Given the description of an element on the screen output the (x, y) to click on. 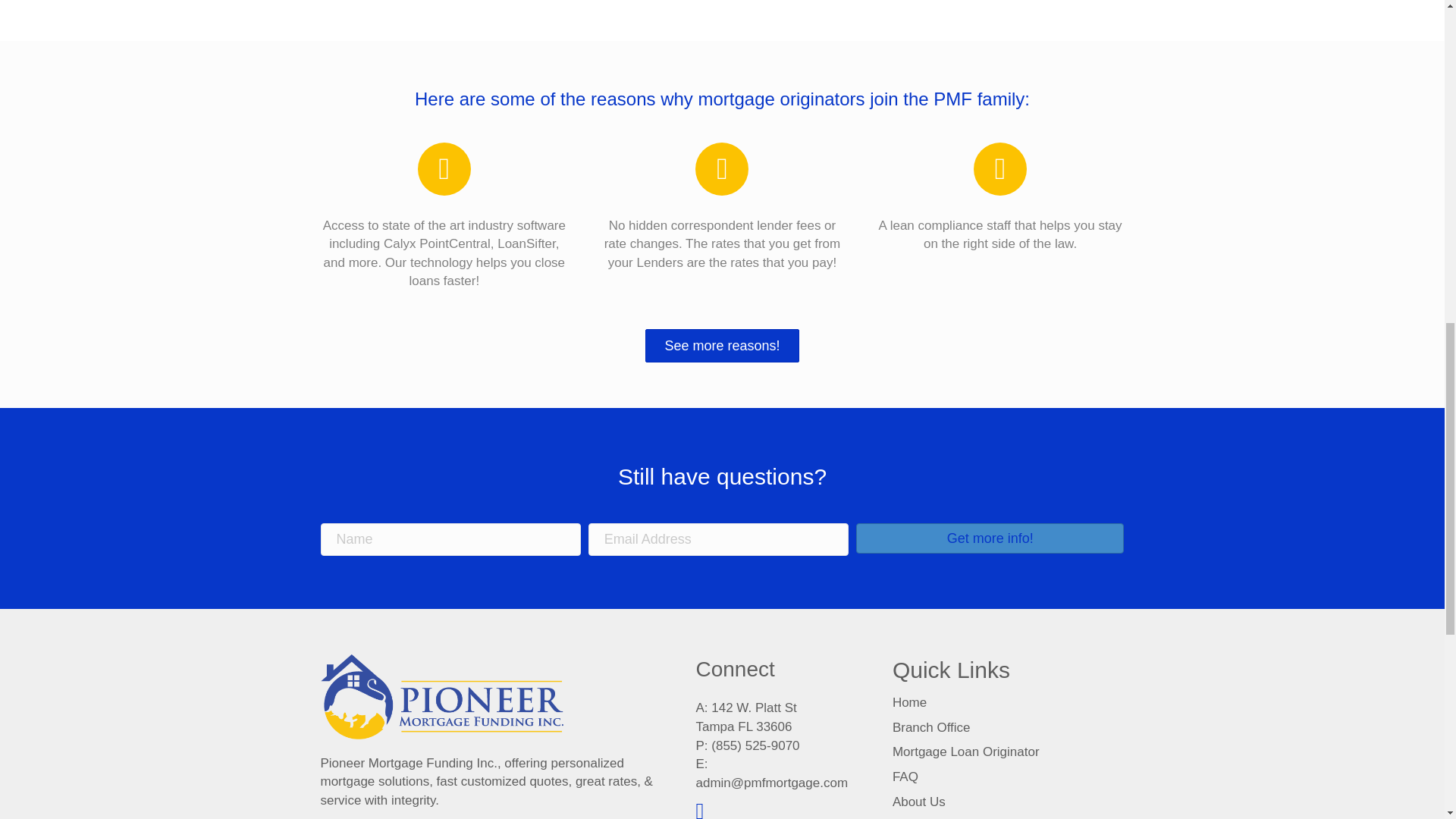
Branch Office (931, 727)
FAQ (905, 776)
About Us (918, 801)
See more reasons! (721, 345)
Get more info! (990, 538)
Home (909, 702)
Mortgage Loan Originator (965, 751)
Pioneer-Mortgage (441, 696)
